Given the description of an element on the screen output the (x, y) to click on. 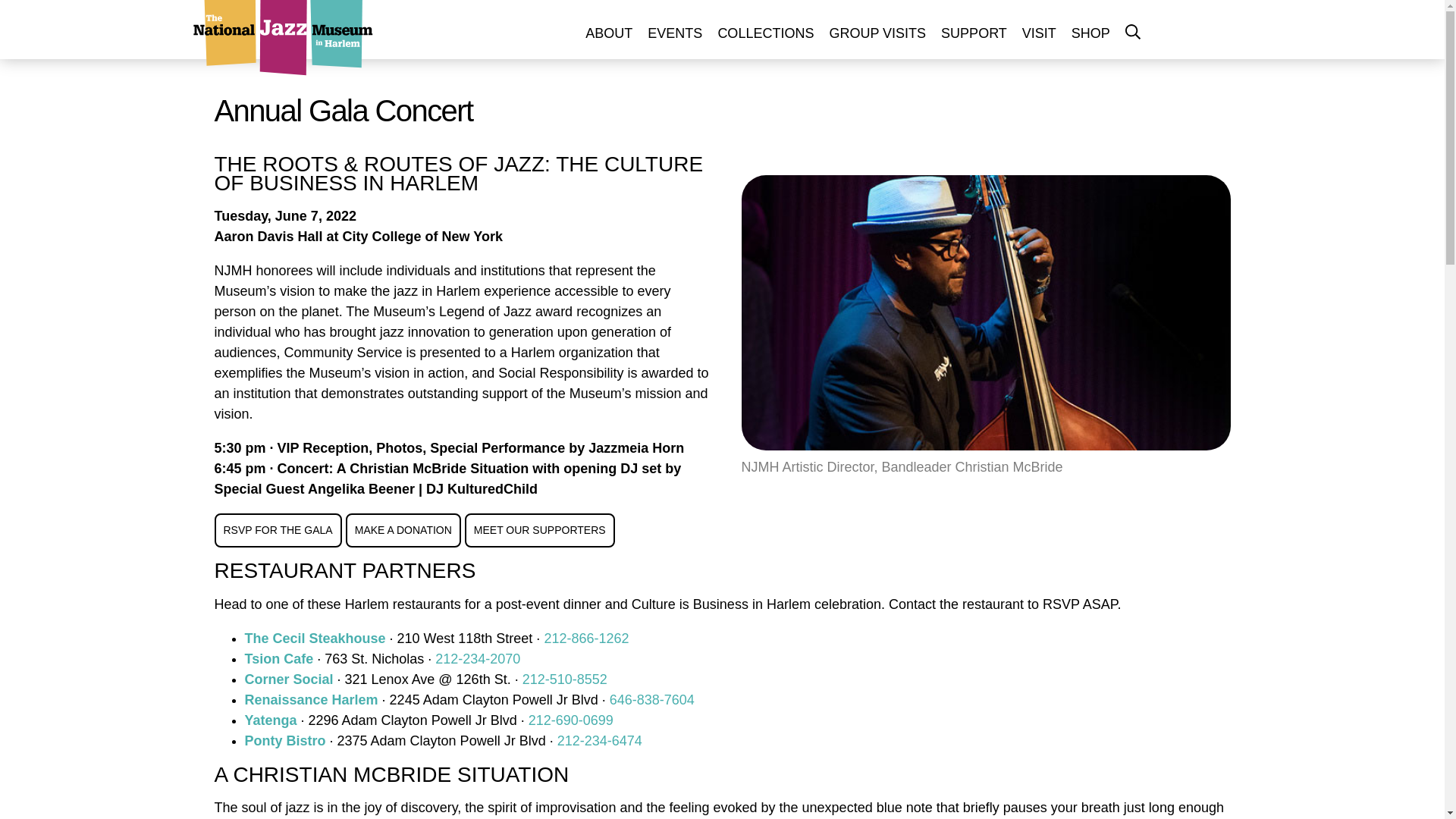
Tsion Cafe (278, 658)
GROUP VISITS (877, 33)
The Cecil Steakhouse (314, 638)
212-690-0699 (570, 720)
212-510-8552 (564, 679)
COLLECTIONS (765, 33)
MAKE A DONATION (403, 530)
ABOUT (609, 33)
Ponty Bistro (284, 740)
Renaissance Harlem (310, 699)
